Given the description of an element on the screen output the (x, y) to click on. 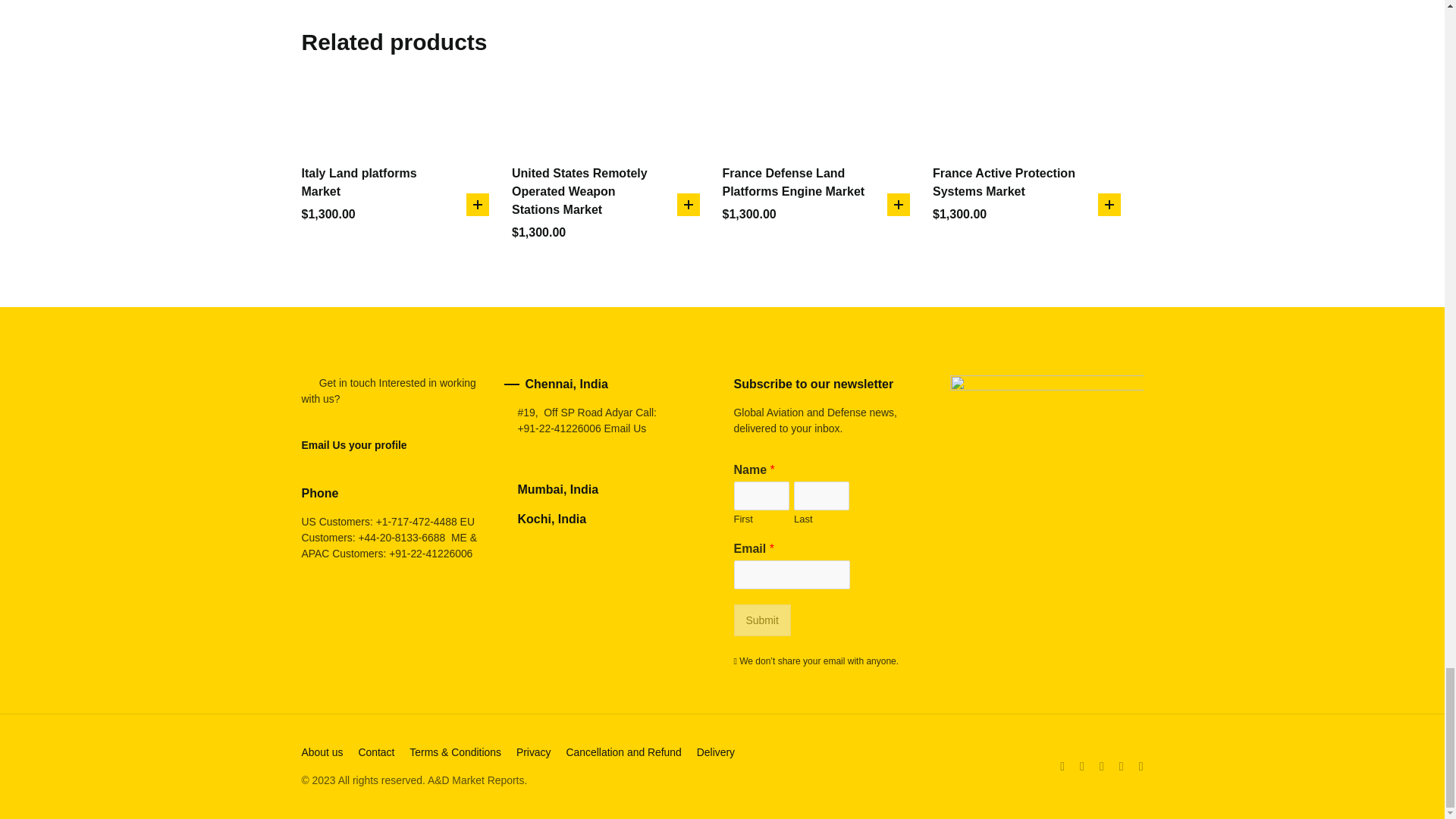
add to cart (1109, 204)
add to cart (687, 204)
add to cart (898, 204)
add to cart (477, 204)
